Given the description of an element on the screen output the (x, y) to click on. 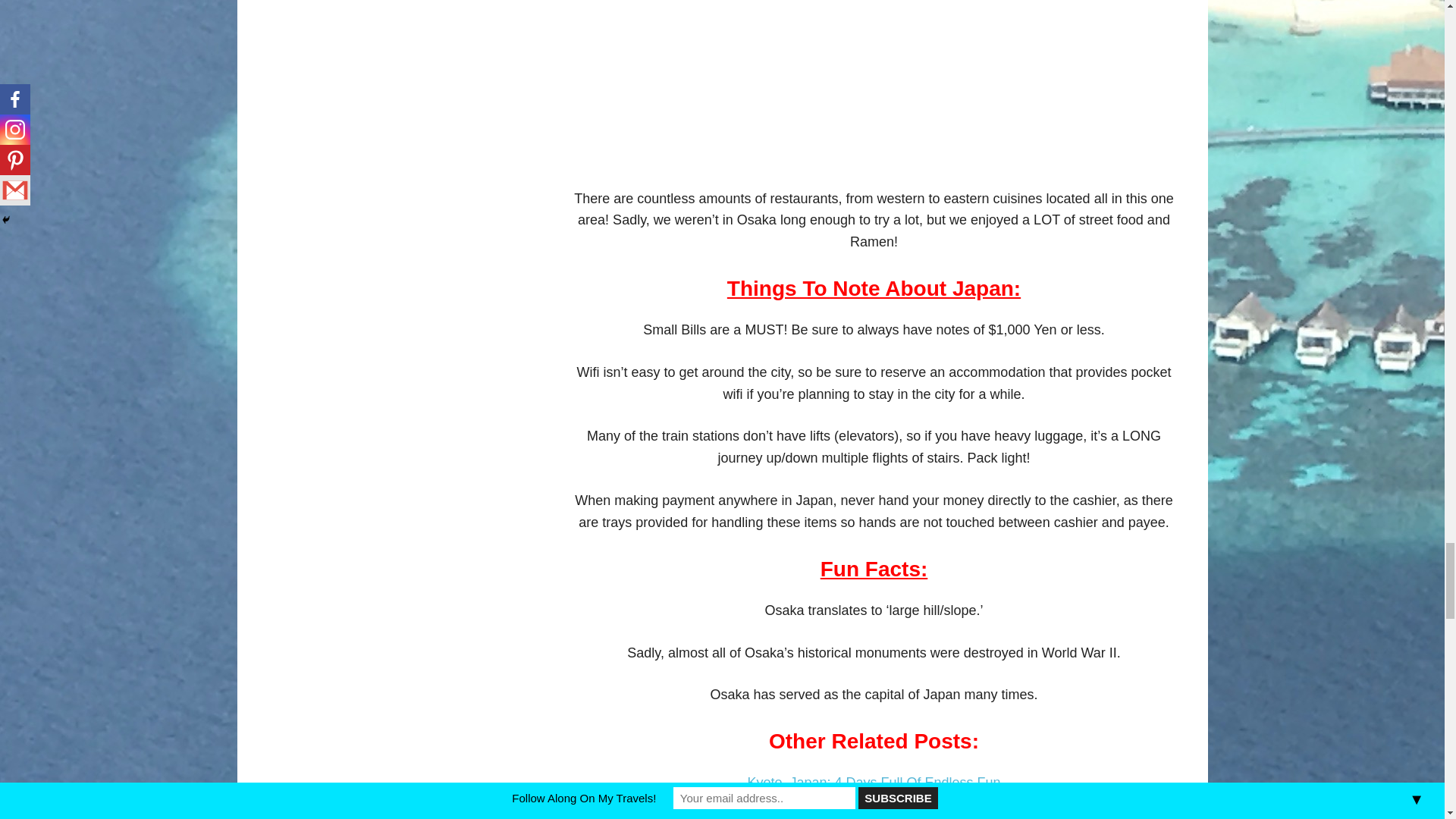
One Quick Day In Osaka, Japan (873, 83)
